Given the description of an element on the screen output the (x, y) to click on. 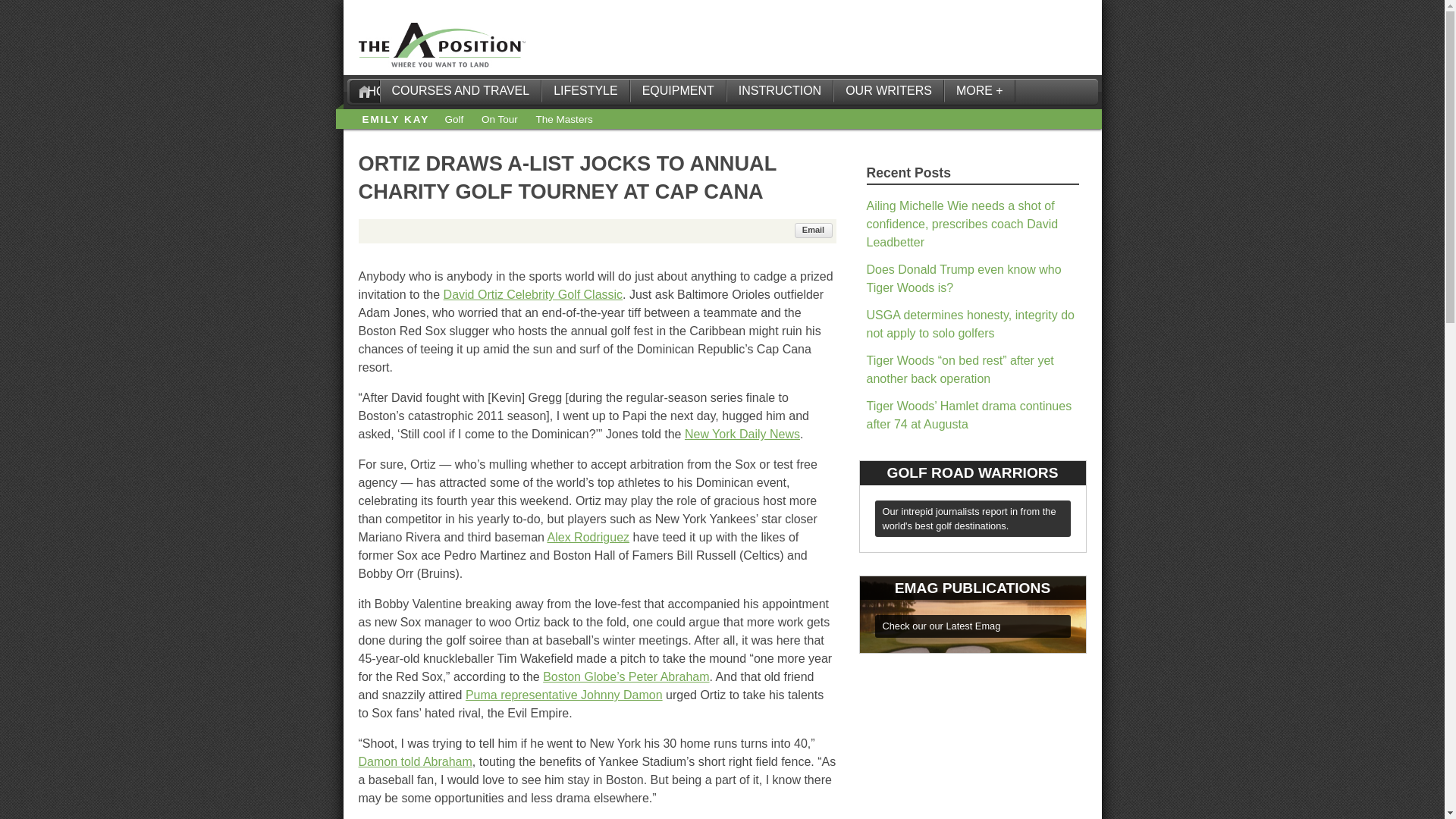
Alex Rodriguez (588, 536)
EMILY KAY (395, 119)
LIFESTYLE (584, 90)
Golf (453, 119)
COURSES AND TRAVEL (459, 90)
On Tour (499, 119)
Email (813, 230)
HOME (363, 91)
Puma representative Johnny Damon (563, 694)
New York Daily News (741, 433)
